Given the description of an element on the screen output the (x, y) to click on. 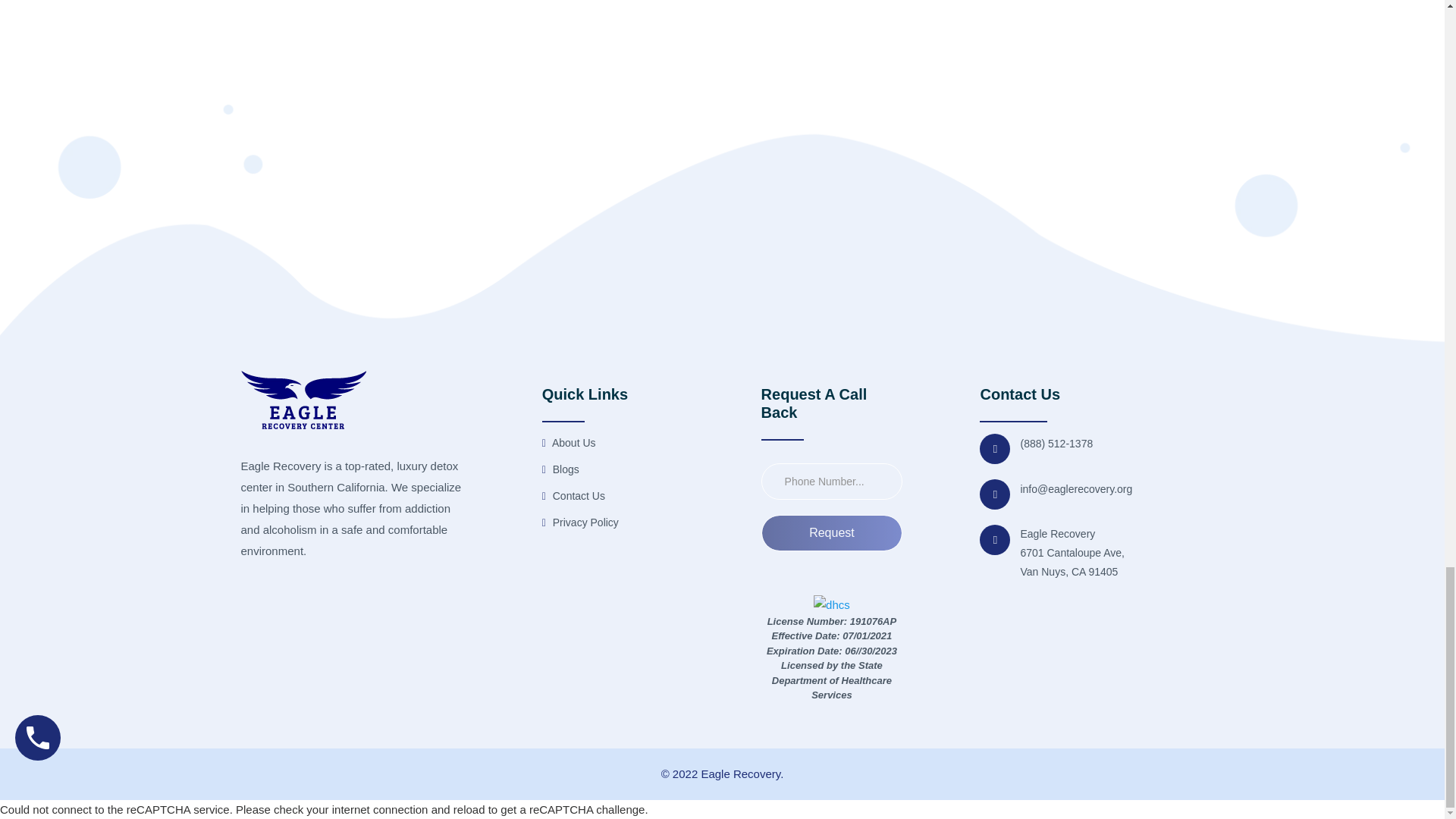
About Us (568, 443)
Privacy Policy (579, 522)
Request (831, 533)
Request (831, 533)
Contact Us (573, 496)
Blogs (560, 469)
